Given the description of an element on the screen output the (x, y) to click on. 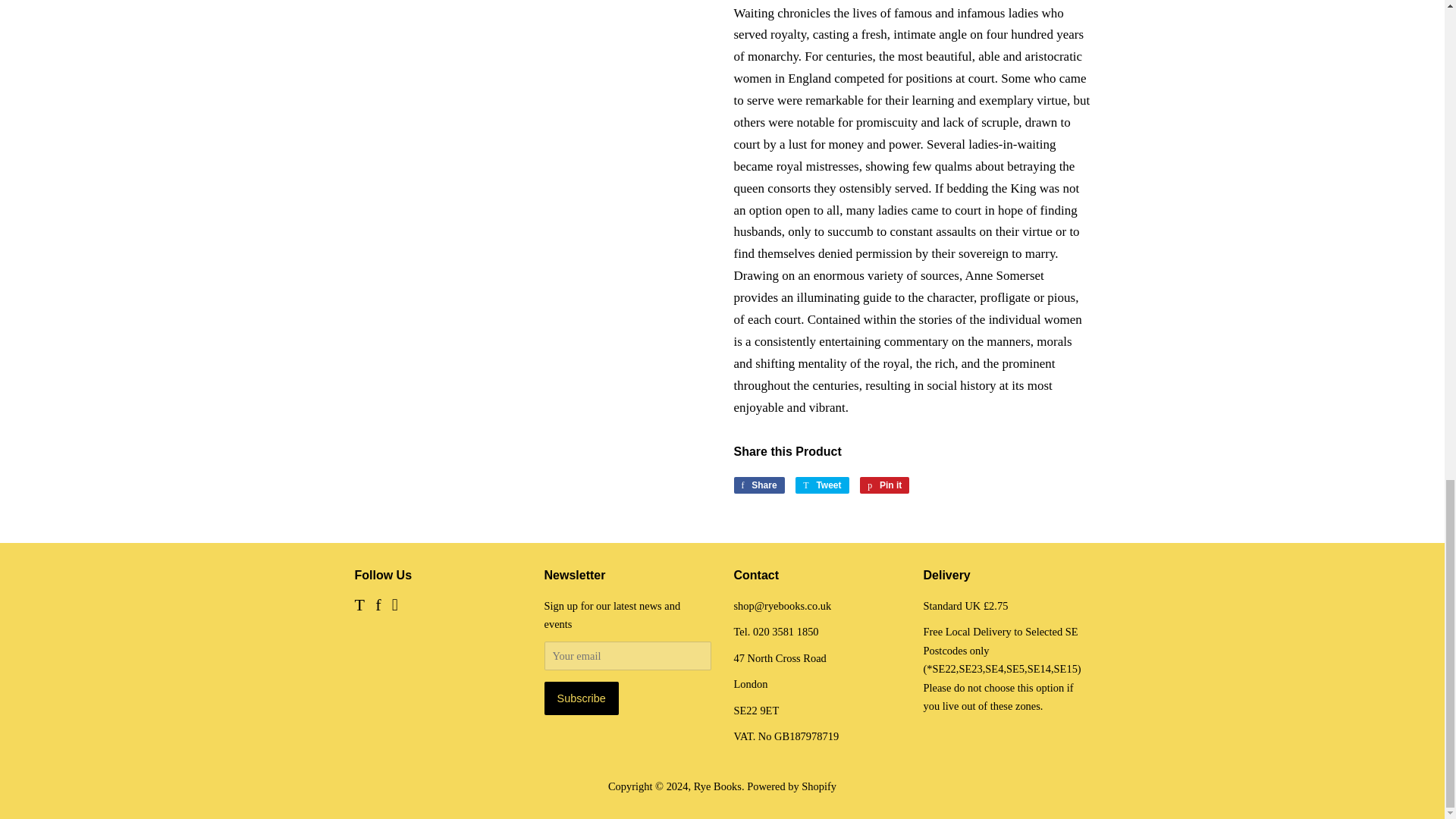
Subscribe (581, 697)
Pin on Pinterest (884, 484)
Share on Facebook (758, 484)
Tweet on Twitter (821, 484)
